Given the description of an element on the screen output the (x, y) to click on. 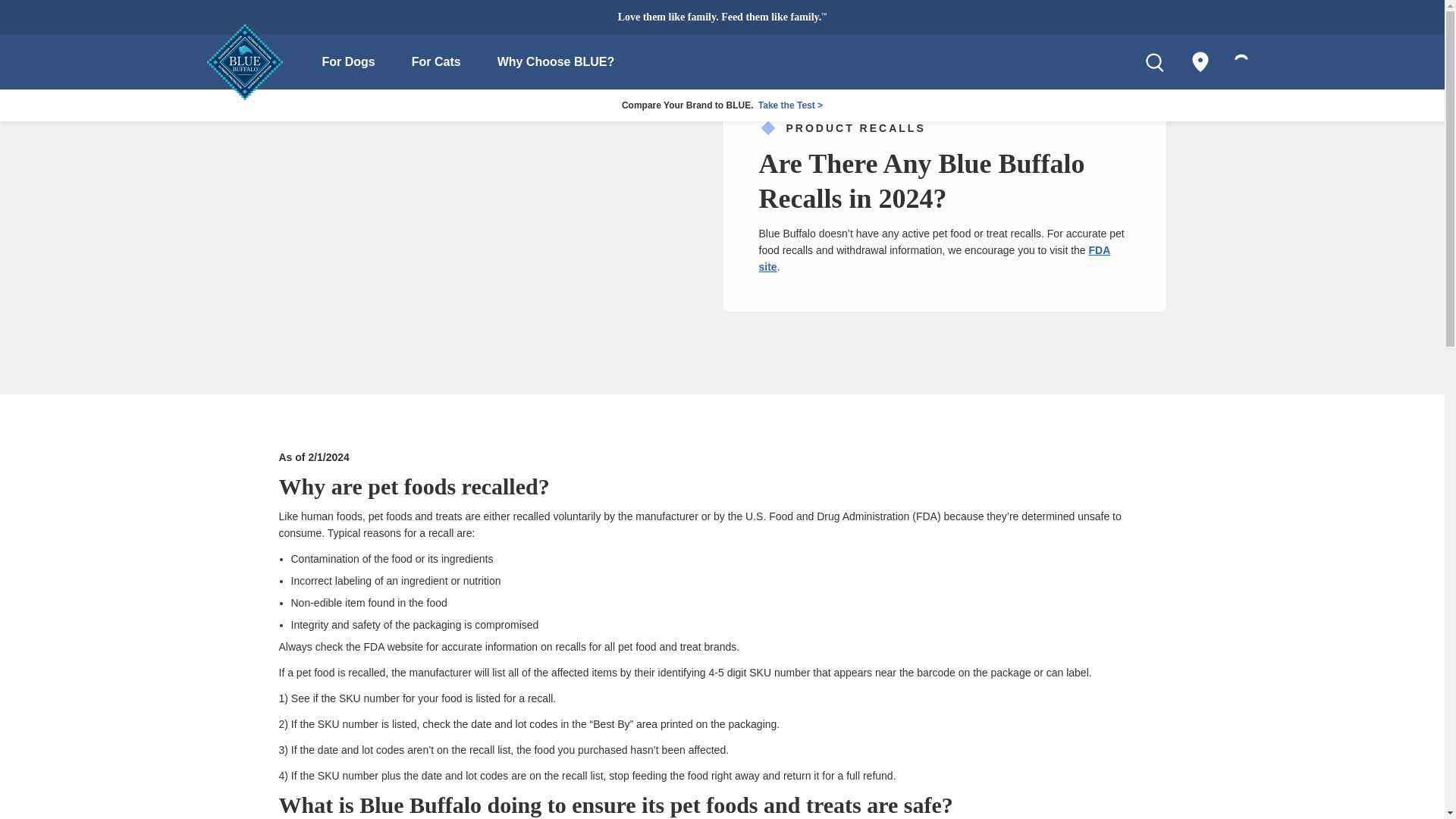
For Dogs (348, 62)
